Given the description of an element on the screen output the (x, y) to click on. 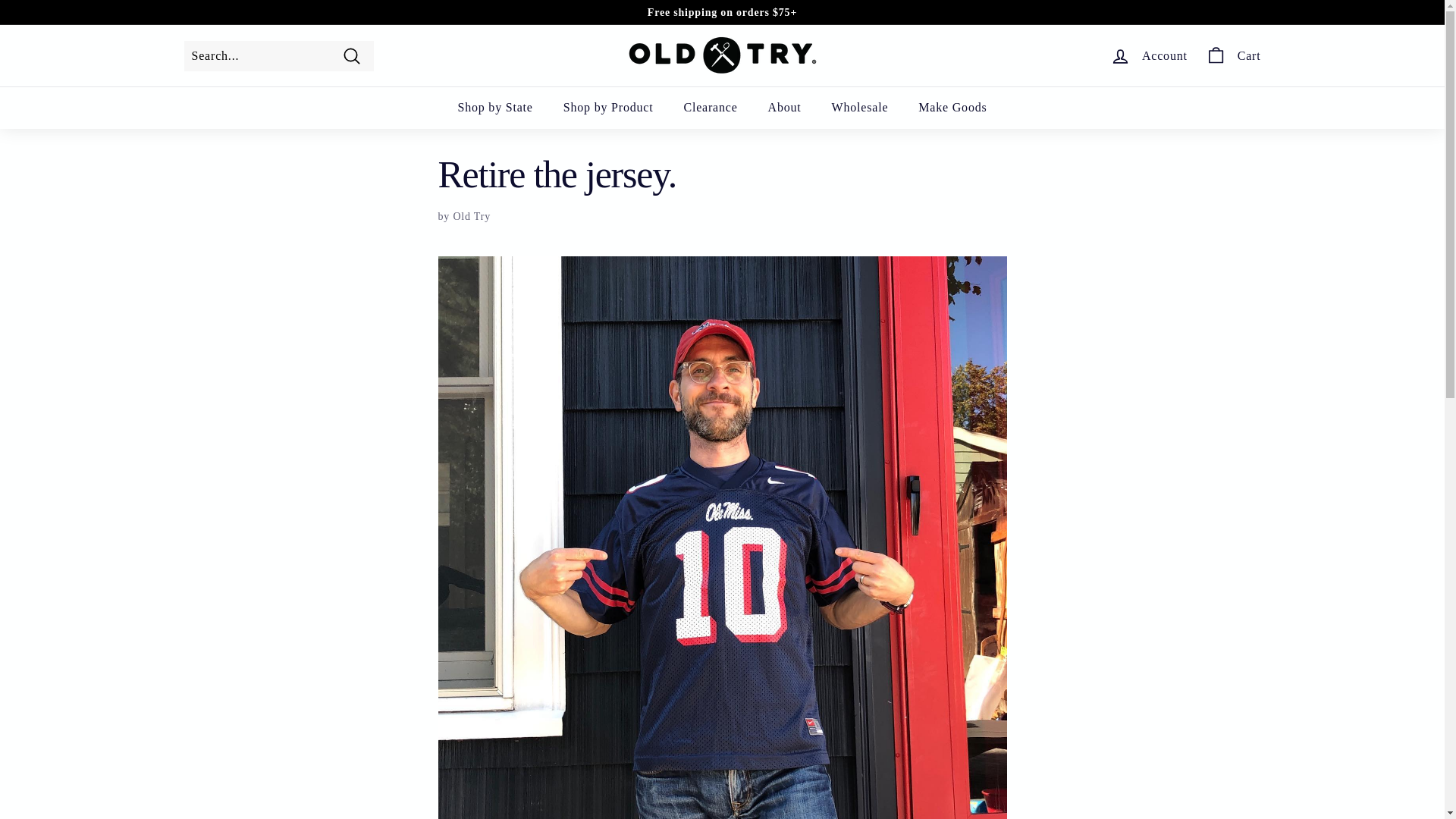
Shop by State (494, 107)
Account (1148, 55)
